Given the description of an element on the screen output the (x, y) to click on. 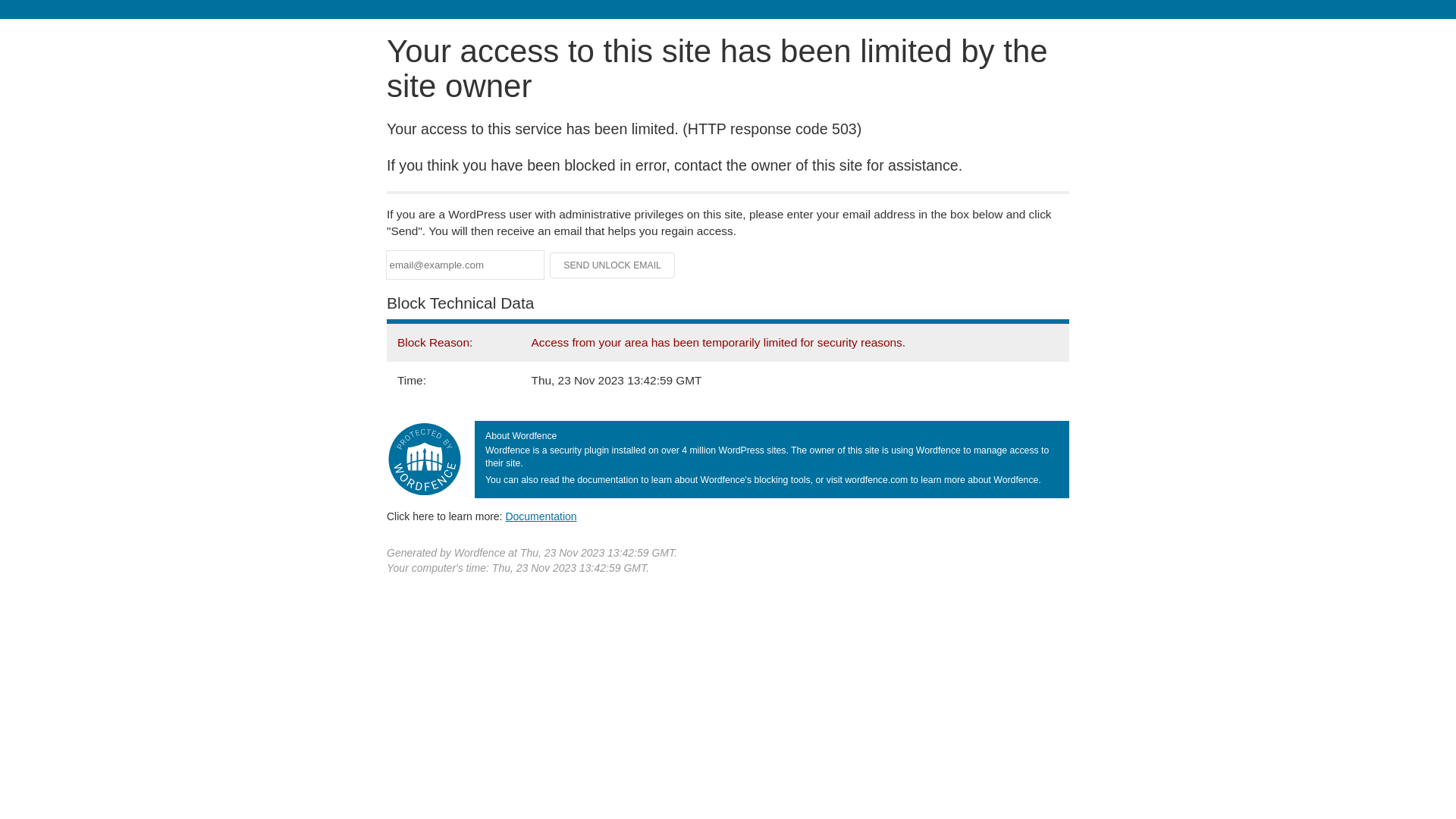
Send Unlock Email Element type: text (612, 265)
Documentation Element type: text (540, 516)
